Given the description of an element on the screen output the (x, y) to click on. 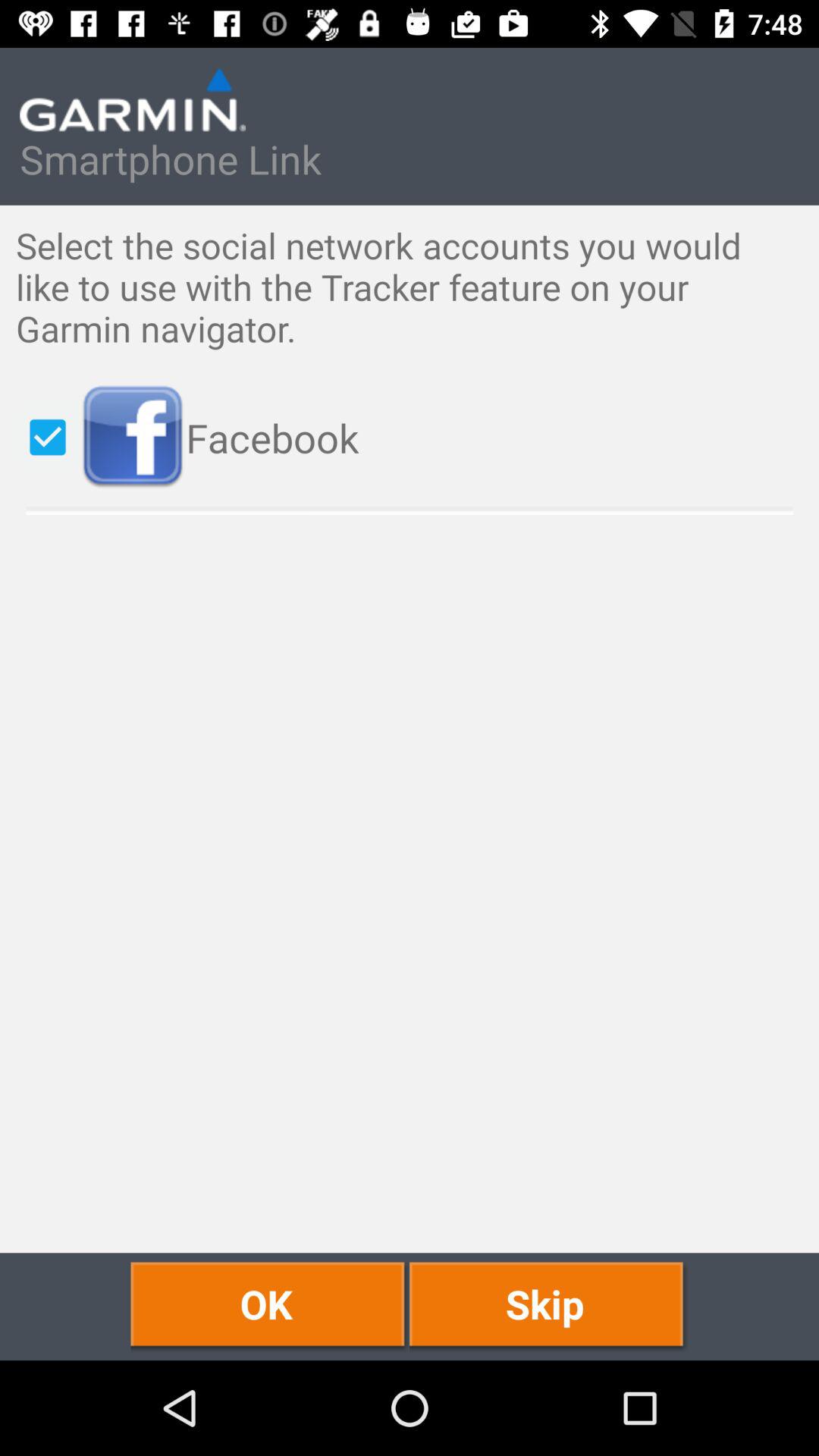
click the item next to ok item (548, 1306)
